Given the description of an element on the screen output the (x, y) to click on. 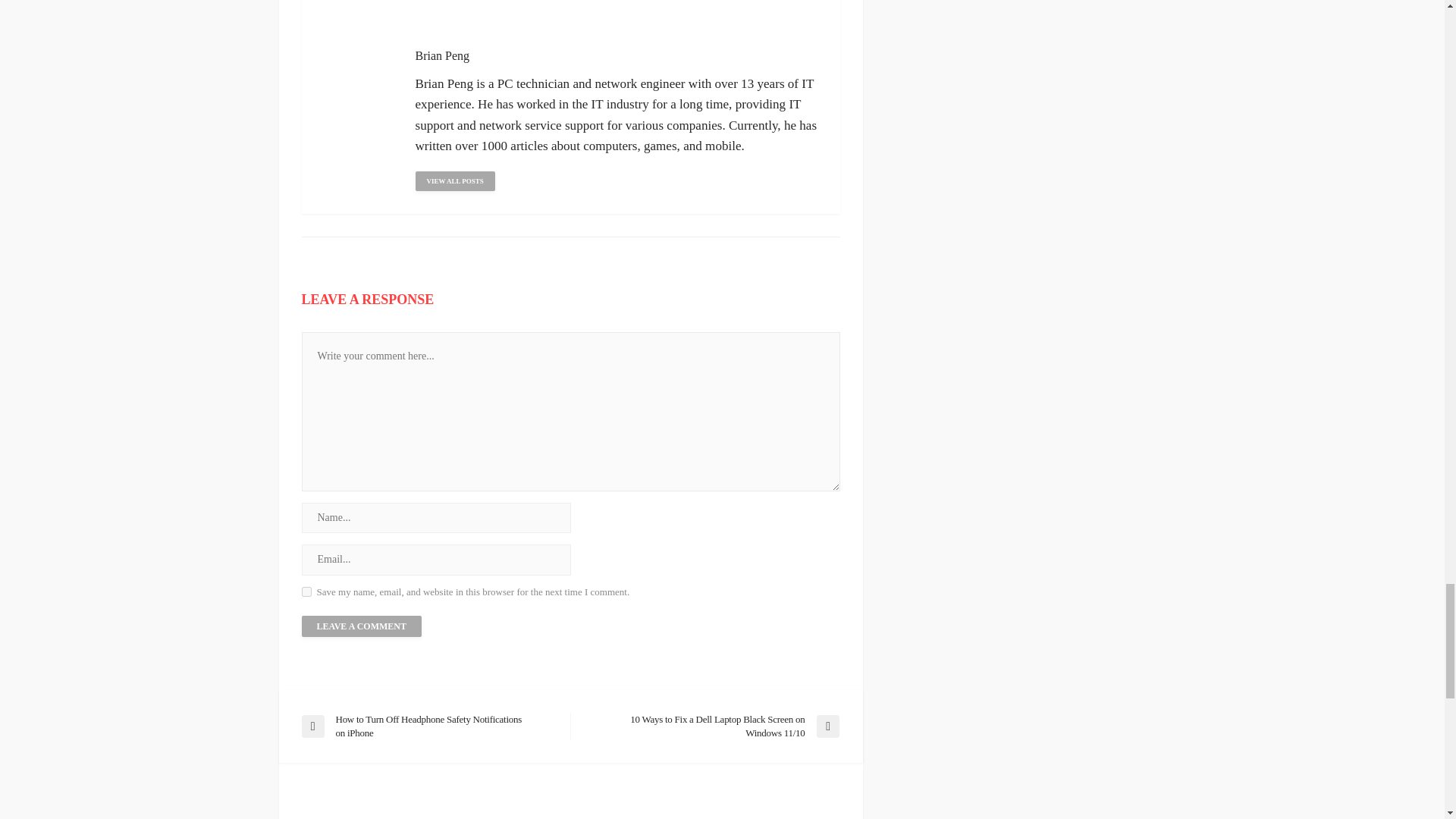
How to Turn Off Headphone Safety Notifications on iPhone (427, 726)
Leave a comment (361, 626)
yes (306, 592)
